Given the description of an element on the screen output the (x, y) to click on. 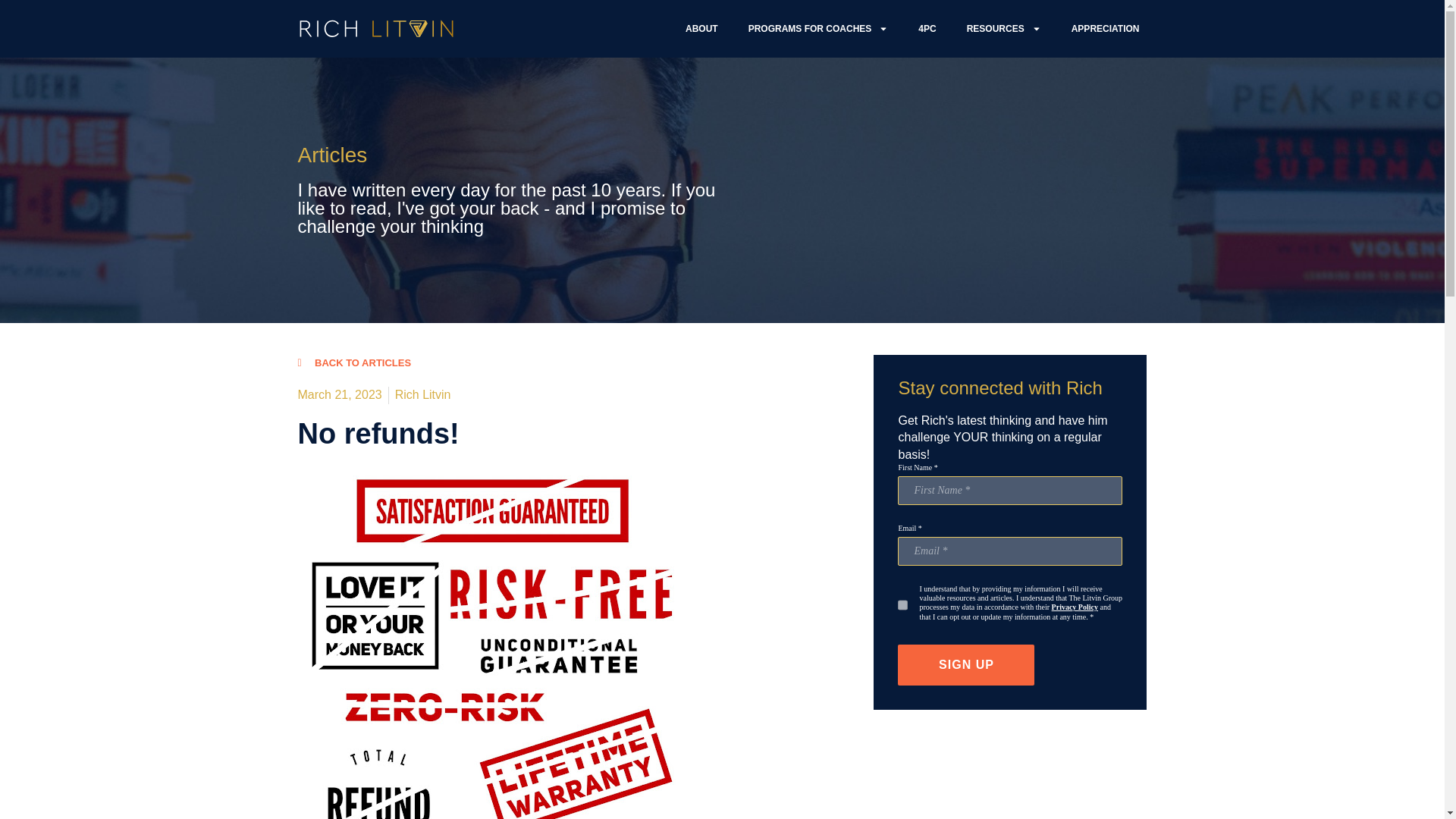
PROGRAMS FOR COACHES (818, 28)
APPRECIATION (1105, 28)
ABOUT (701, 28)
1173 (902, 604)
4PC (926, 28)
RESOURCES (1004, 28)
